Given the description of an element on the screen output the (x, y) to click on. 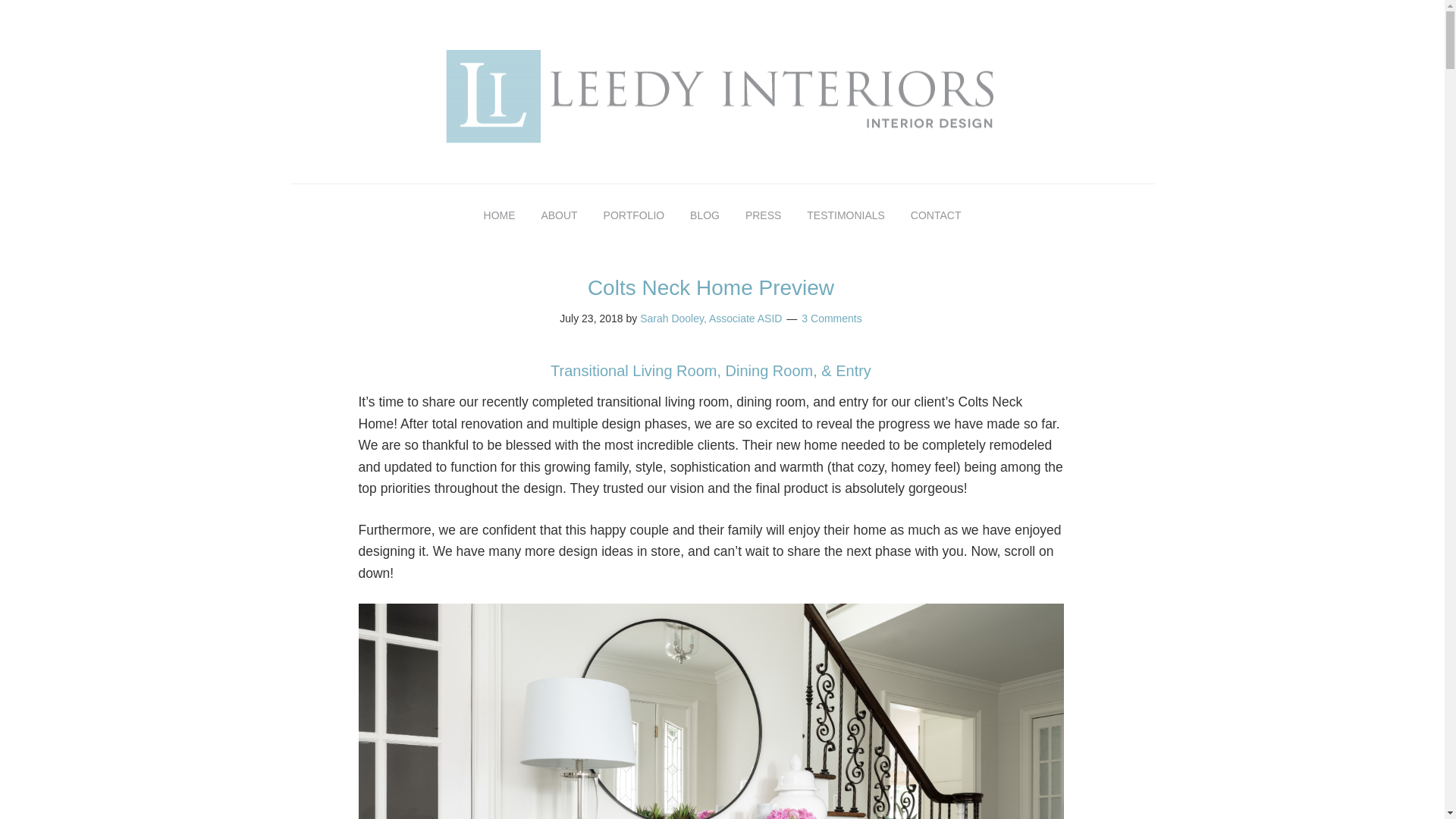
Twitter (1140, 25)
Houzz (1018, 25)
Facebook (1079, 25)
pinterest (1109, 25)
3 Comments (831, 318)
LEEDY INTERIORS (722, 99)
BLOG (704, 215)
Instatgram (1048, 25)
PRESS (762, 215)
HOME (499, 215)
TESTIMONIALS (845, 215)
Sarah Dooley, Associate ASID (710, 318)
CONTACT (935, 215)
ABOUT (558, 215)
PORTFOLIO (634, 215)
